Given the description of an element on the screen output the (x, y) to click on. 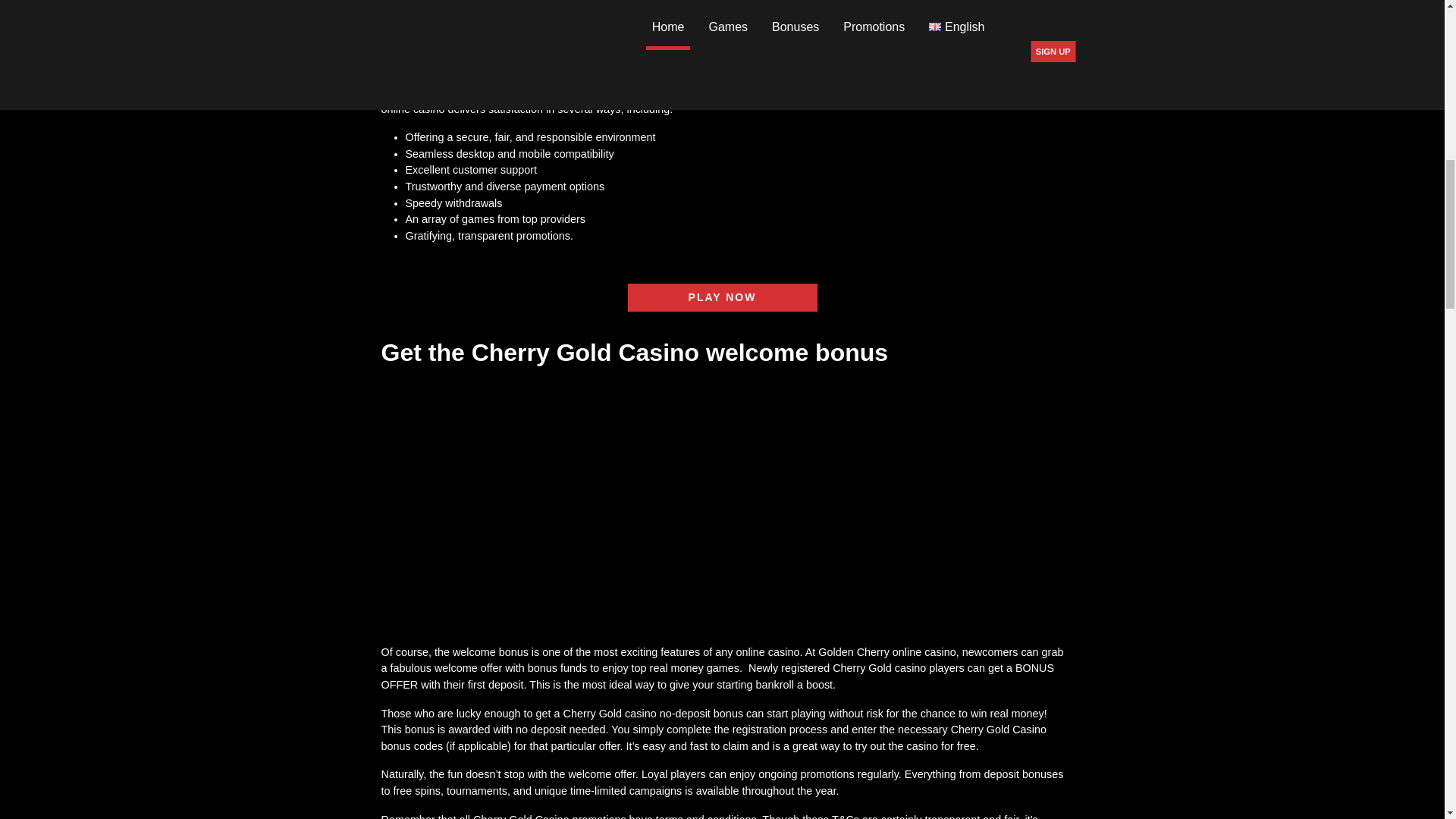
PLAY NOW (721, 297)
games (696, 47)
BONUS OFFER (717, 676)
